Given the description of an element on the screen output the (x, y) to click on. 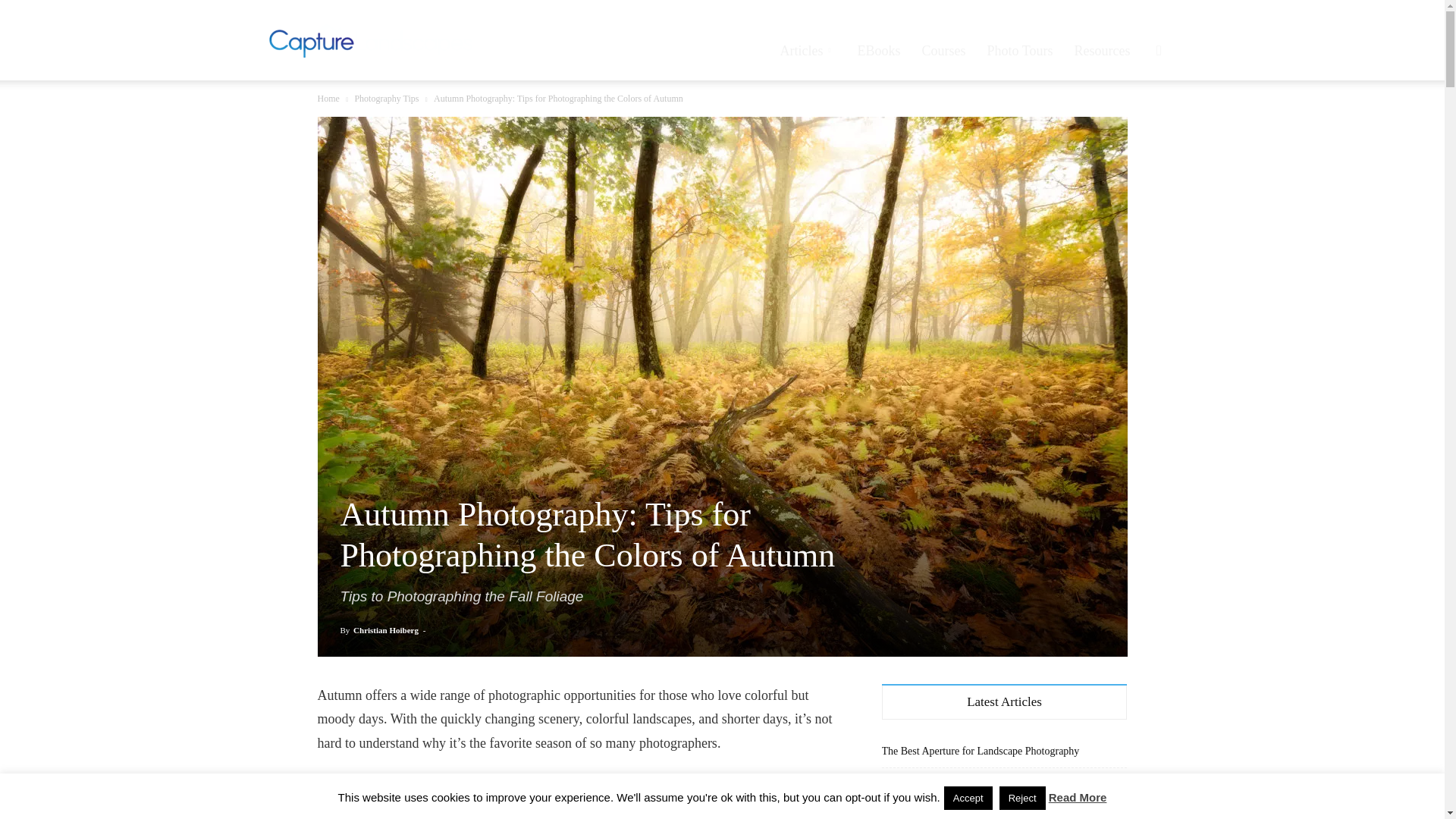
EBooks (879, 50)
Home (328, 98)
Christian Hoiberg (386, 629)
Search (1134, 122)
Articles (808, 50)
Photography Tips (386, 98)
Photo Tours (1020, 50)
CaptureLandscapes (369, 39)
Resources (1102, 50)
View all posts in Photography Tips (386, 98)
Courses (943, 50)
